Given the description of an element on the screen output the (x, y) to click on. 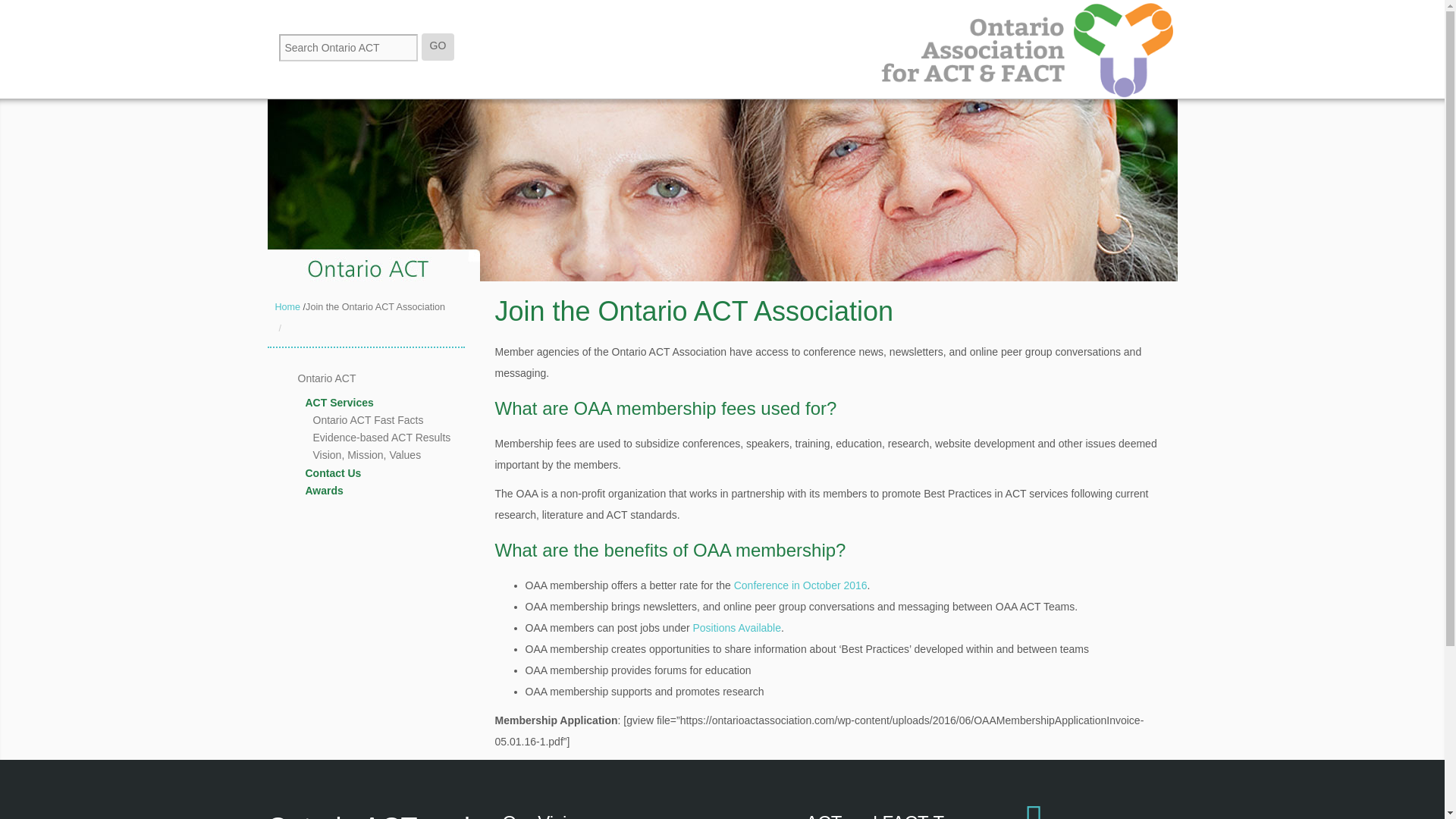
GO (438, 46)
Positions Available (736, 627)
Contact Us (396, 473)
Ontario ACT (392, 378)
Vision, Mission, Values (399, 455)
Ontario ACT Fast Facts (399, 420)
Awards (396, 490)
Conference in October 2016 (800, 585)
Evidence-based ACT Results (399, 437)
ACT Services (396, 402)
